Given the description of an element on the screen output the (x, y) to click on. 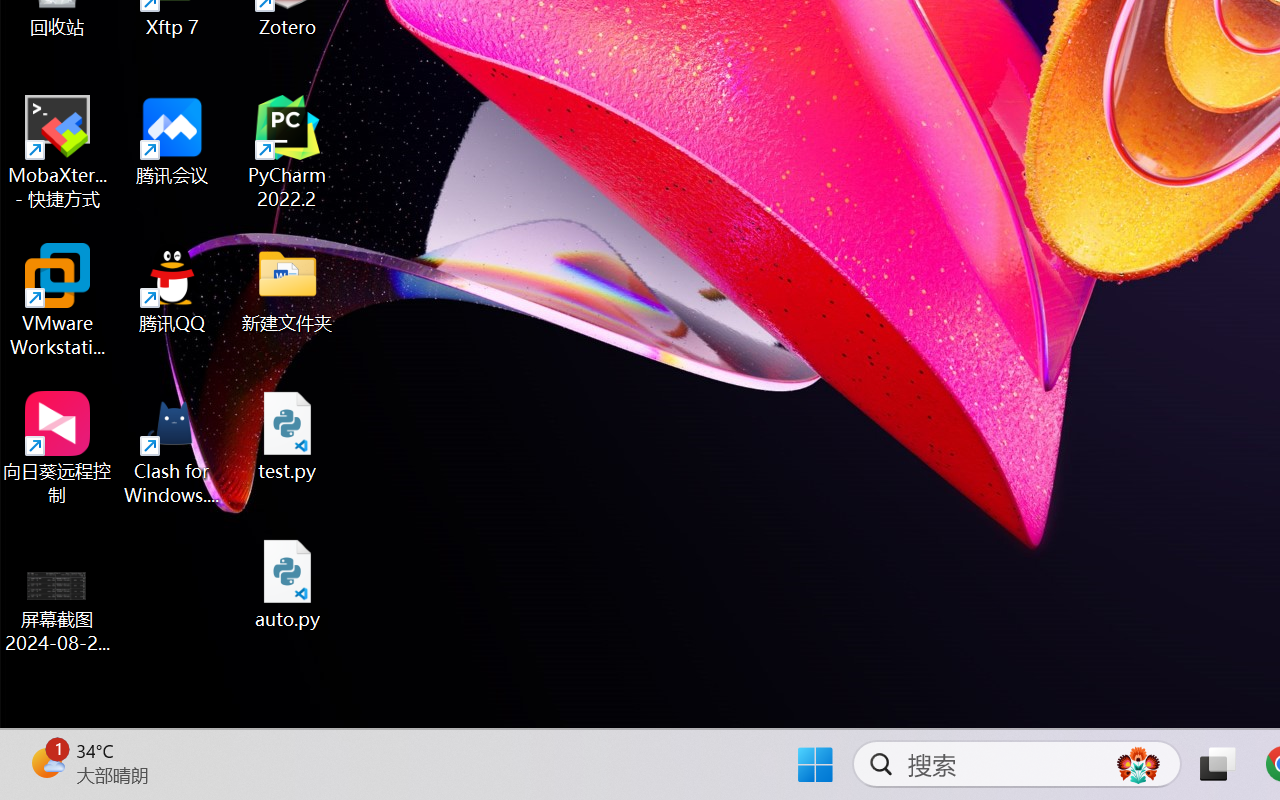
test.py (287, 436)
auto.py (287, 584)
PyCharm 2022.2 (287, 152)
VMware Workstation Pro (57, 300)
